Given the description of an element on the screen output the (x, y) to click on. 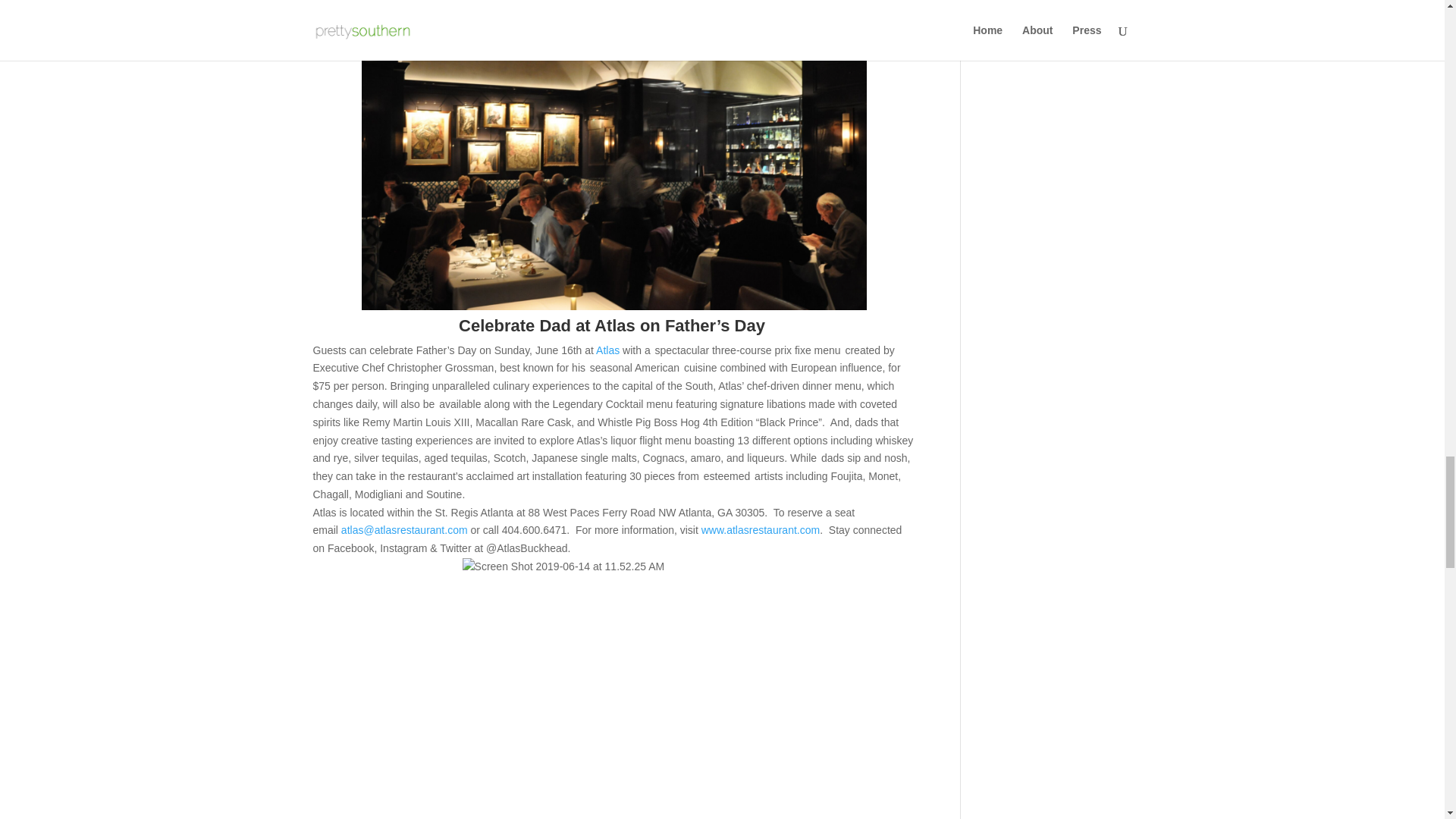
www.atlasrestaurant.com (760, 530)
Atlas (607, 349)
